Given the description of an element on the screen output the (x, y) to click on. 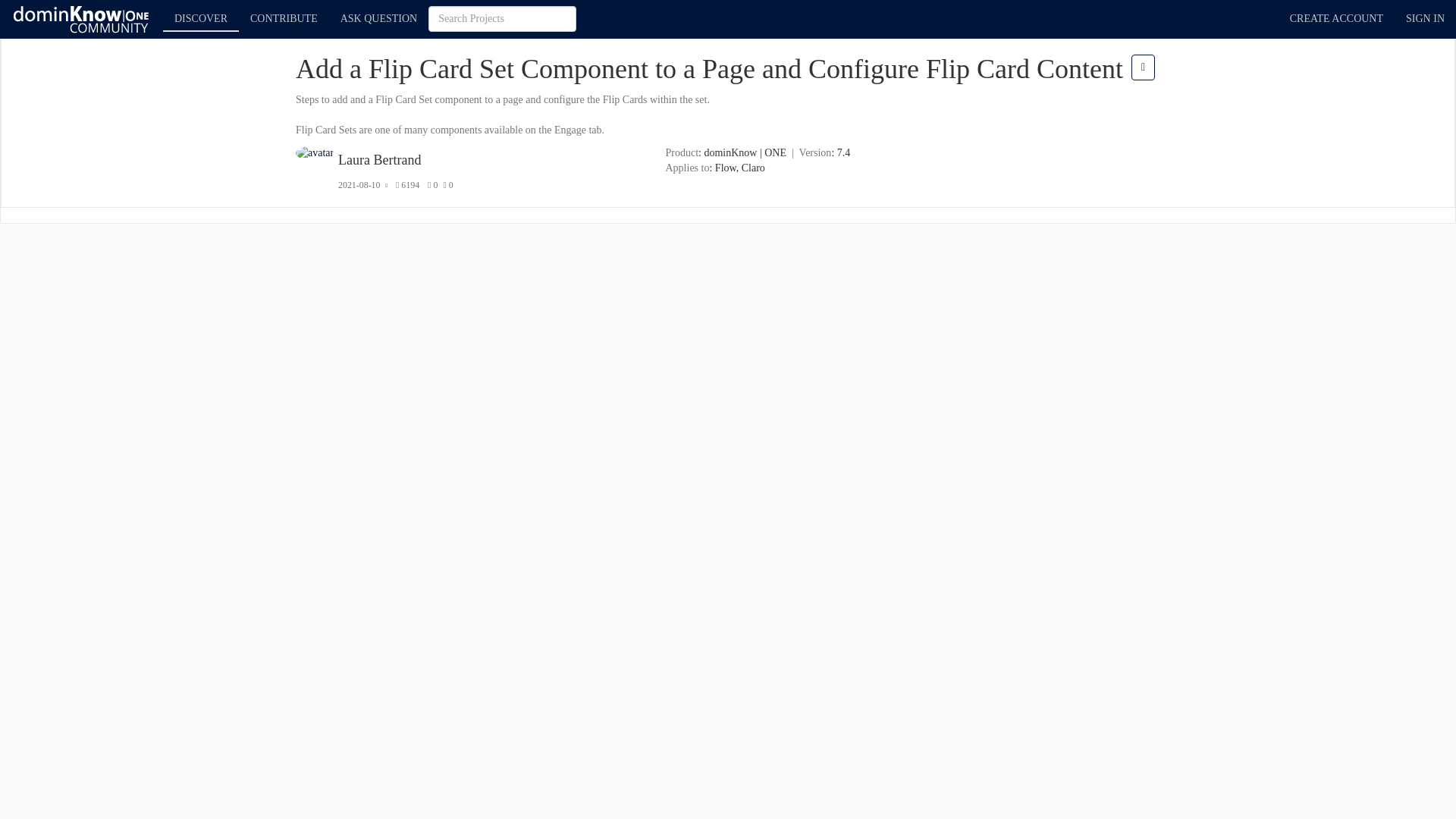
Create new projects (283, 15)
Create a new account (1336, 18)
CREATE ACCOUNT (1336, 18)
Browse projects and collections (200, 18)
Ask a question (379, 15)
Open landing page (81, 18)
ASK QUESTION (379, 15)
DISCOVER (200, 15)
Share this article (1142, 67)
Laura Bertrand (378, 159)
